Given the description of an element on the screen output the (x, y) to click on. 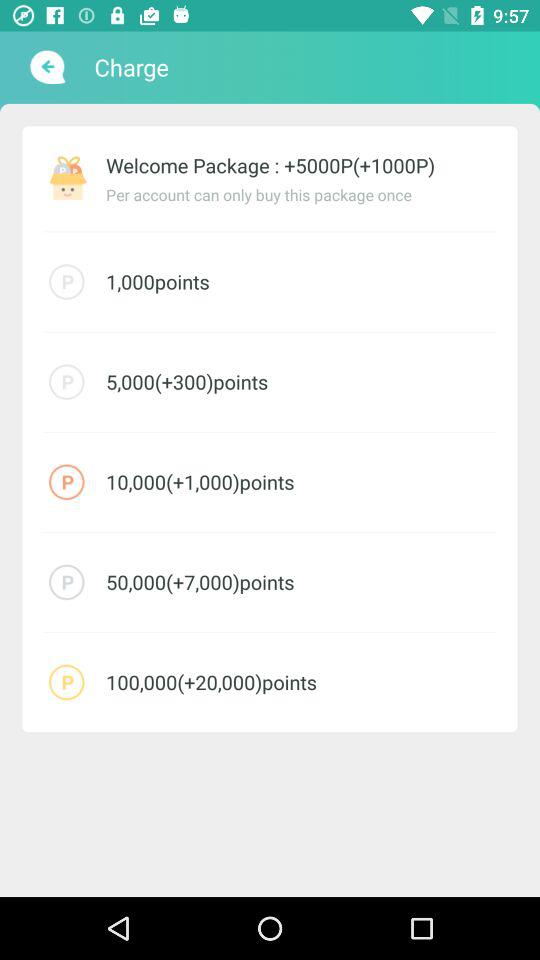
launch the icon to the left of the charge icon (45, 67)
